Given the description of an element on the screen output the (x, y) to click on. 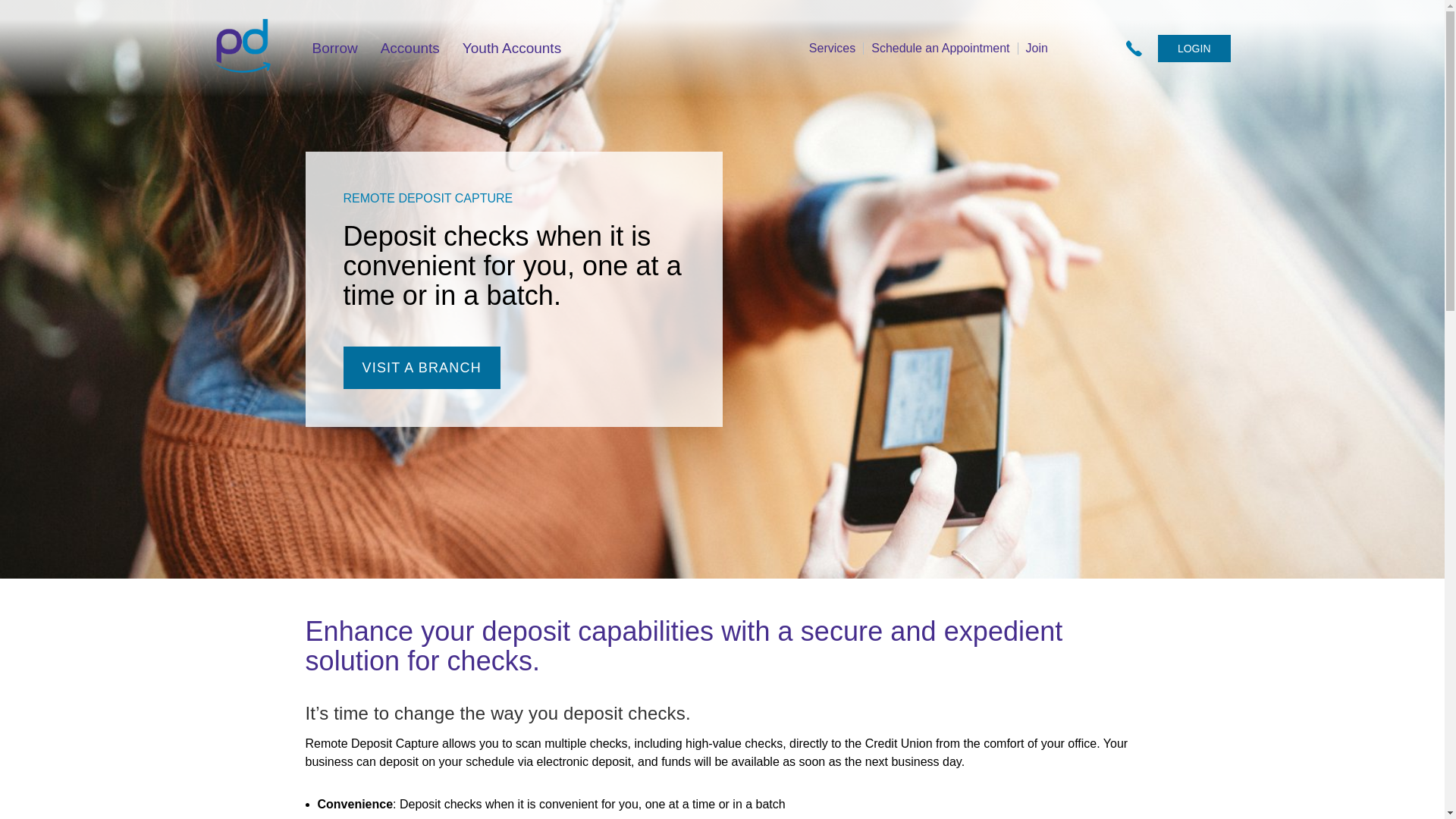
Youth Accounts (511, 47)
Borrow (335, 47)
Services (832, 48)
Accounts (409, 47)
